Given the description of an element on the screen output the (x, y) to click on. 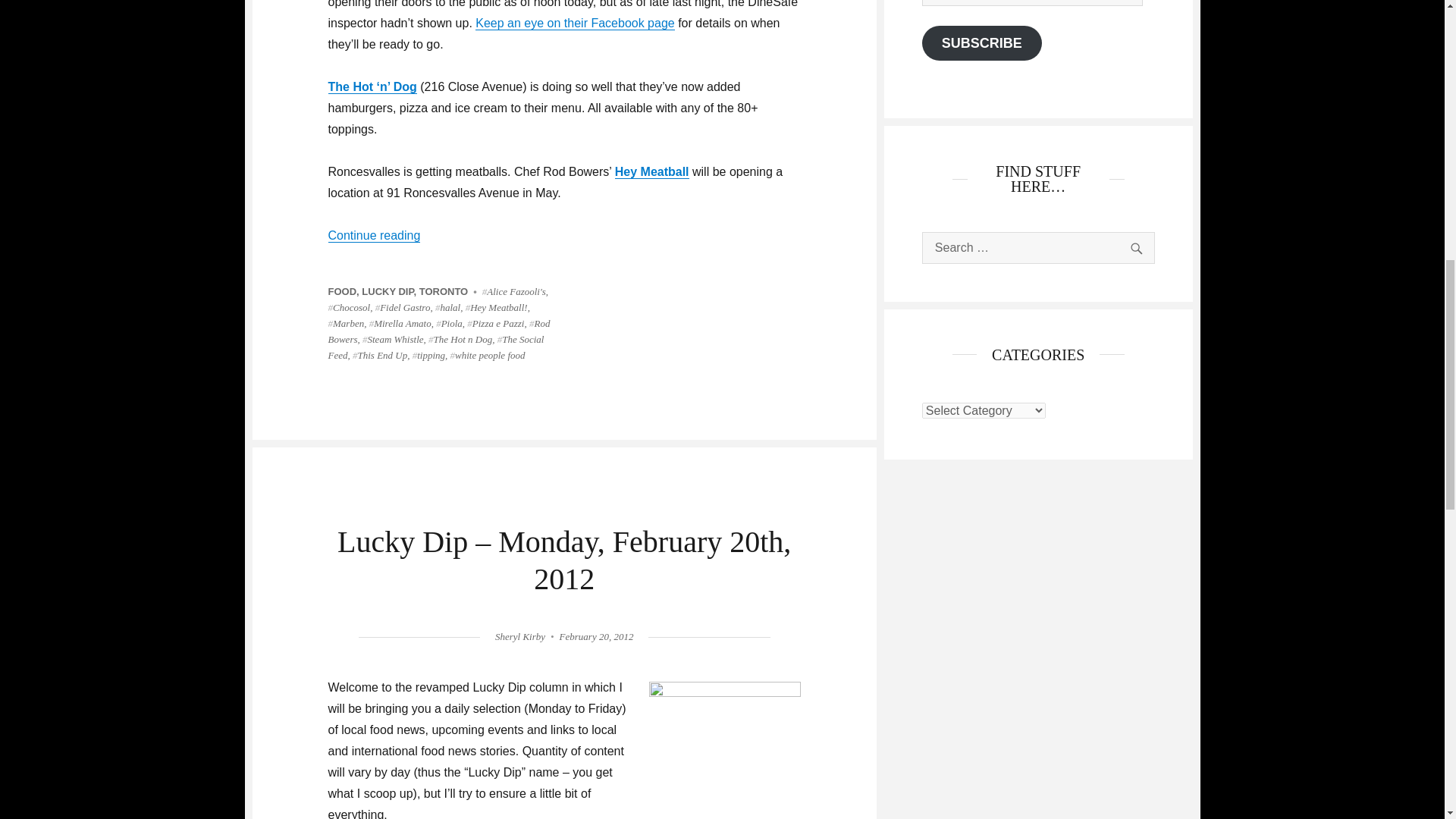
The Social Feed (435, 347)
Mirella Amato (399, 323)
halal (447, 307)
This End Up (379, 355)
Marben (345, 323)
Piola (449, 323)
white people food (487, 355)
Hey Meatball (651, 171)
Rod Bowers (438, 330)
Hey Meatball! (496, 307)
The Hot n Dog (460, 338)
Pizza e Pazzi (495, 323)
LUCKY DIP (387, 291)
Steam Whistle (392, 338)
Fidel Gastro (402, 307)
